Given the description of an element on the screen output the (x, y) to click on. 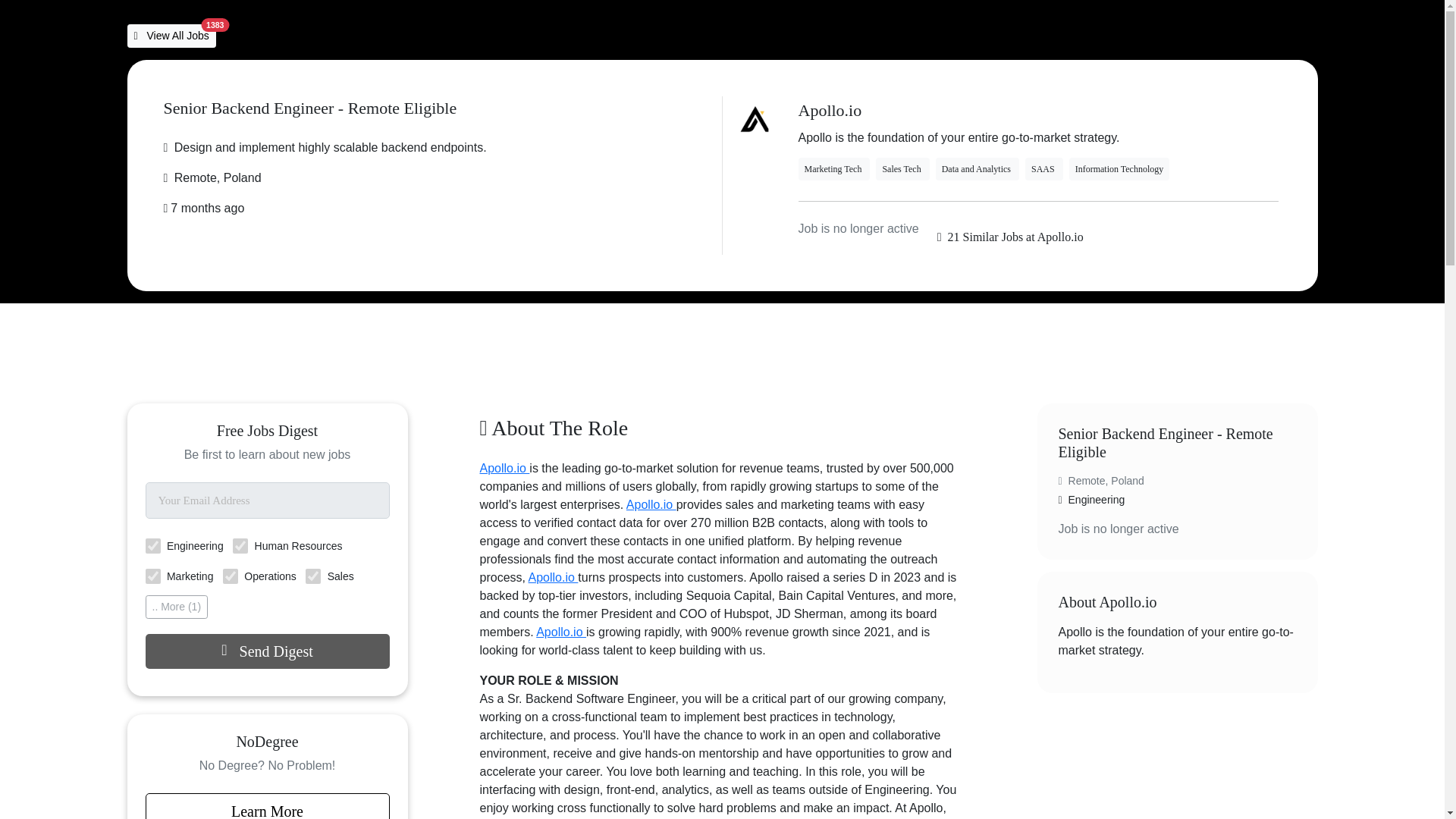
Human Resources (239, 545)
Sales (312, 575)
Engineering (152, 545)
Apollo.io (560, 631)
Sales Tech (902, 169)
Apollo.io (651, 504)
Send Digest (267, 651)
Apollo.io (504, 468)
Information Technology (1119, 169)
Data and Analytics (977, 169)
